Given the description of an element on the screen output the (x, y) to click on. 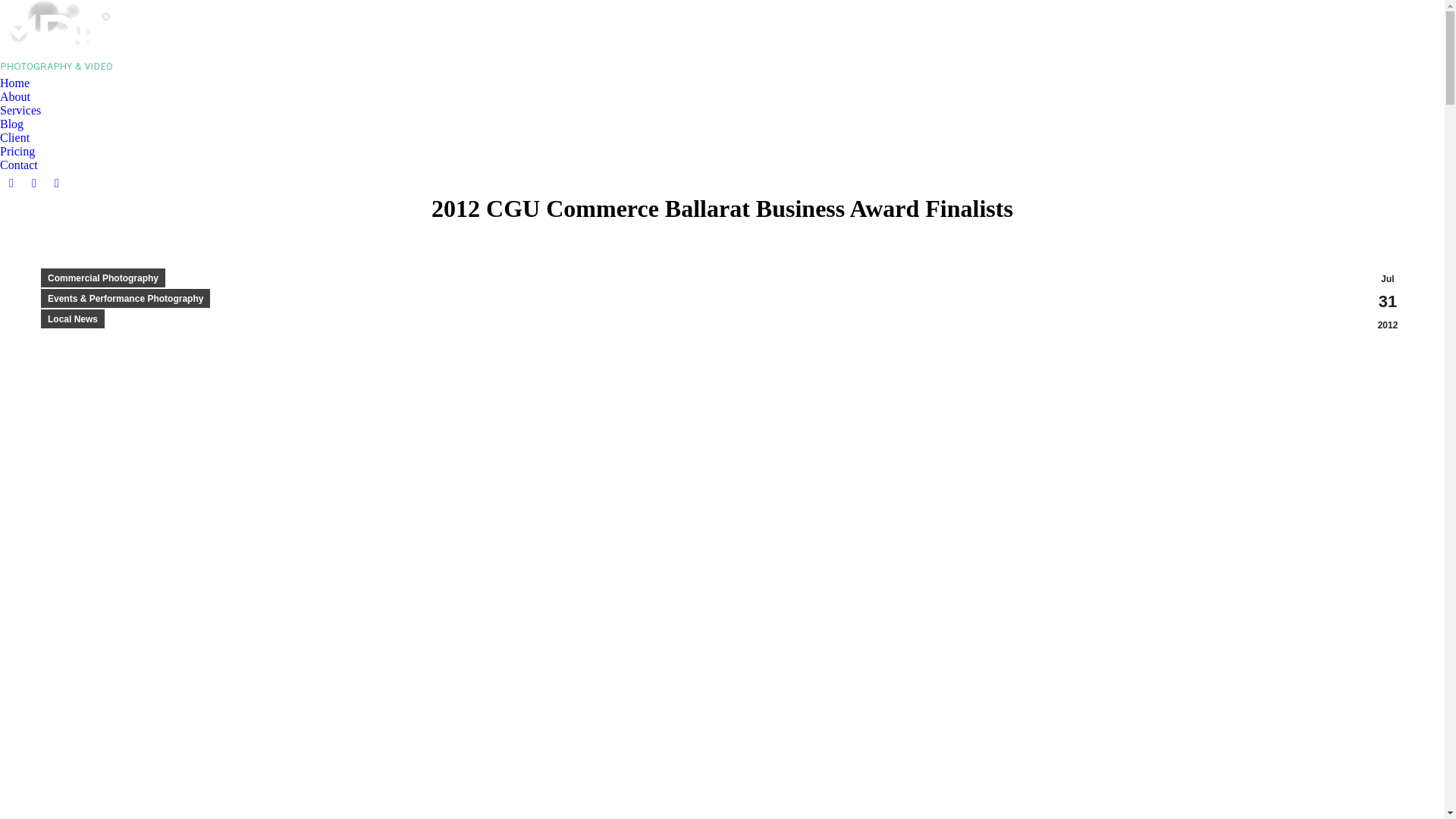
Vimeo page opens in new window Element type: text (33, 183)
Commercial Photography Element type: text (102, 277)
Services Element type: text (24, 110)
Jul
31
2012 Element type: text (1387, 301)
Instagram page opens in new window Element type: text (56, 183)
Contact Element type: text (18, 165)
Events & Performance Photography Element type: text (125, 297)
Blog Element type: text (11, 124)
Client Element type: text (18, 137)
About Element type: text (18, 96)
Local News Element type: text (72, 318)
Home Element type: text (14, 83)
Pricing Element type: text (17, 151)
Linkedin page opens in new window Element type: text (11, 183)
